Given the description of an element on the screen output the (x, y) to click on. 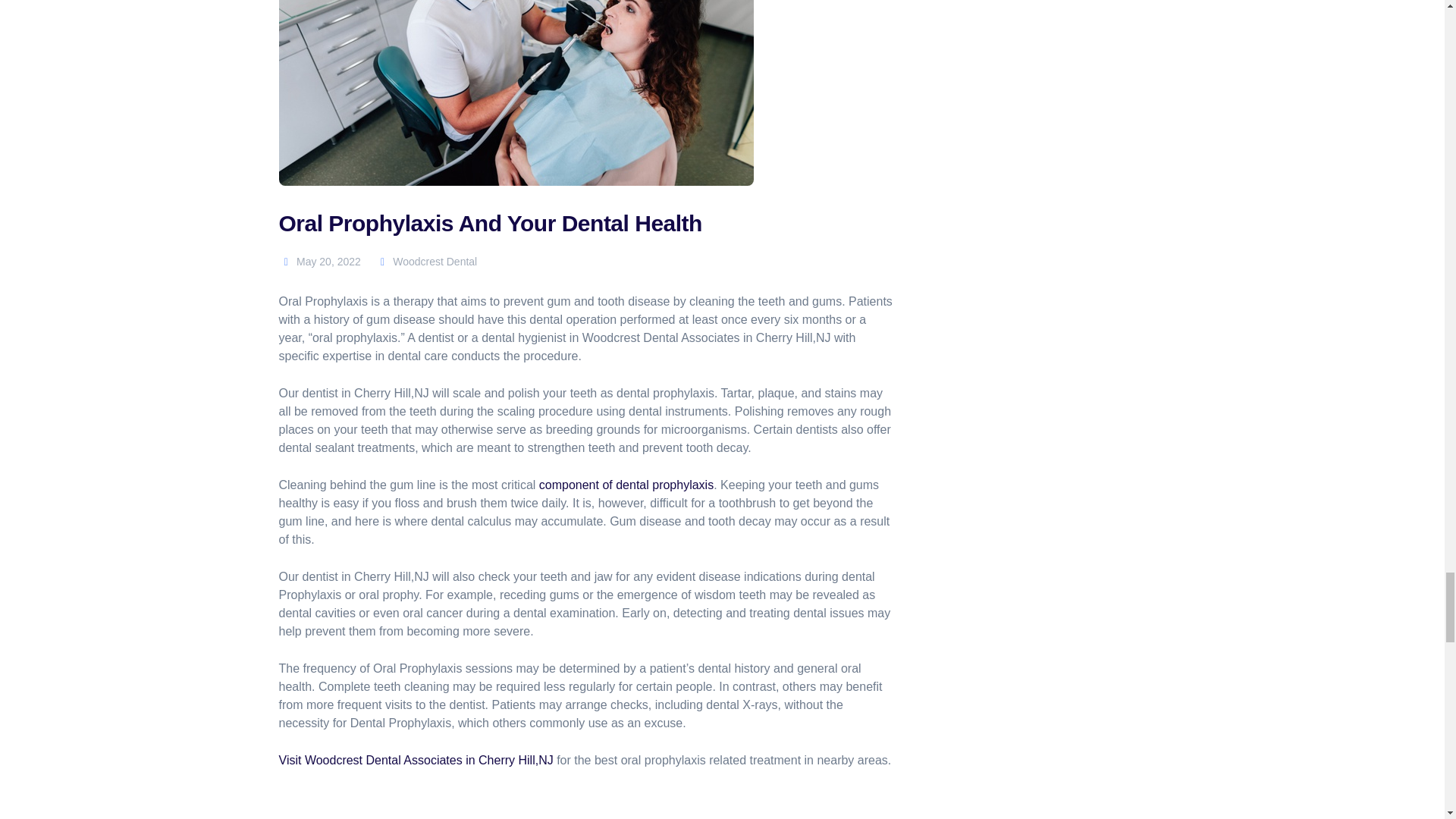
Posted by Woodcrest Dental (426, 261)
